Given the description of an element on the screen output the (x, y) to click on. 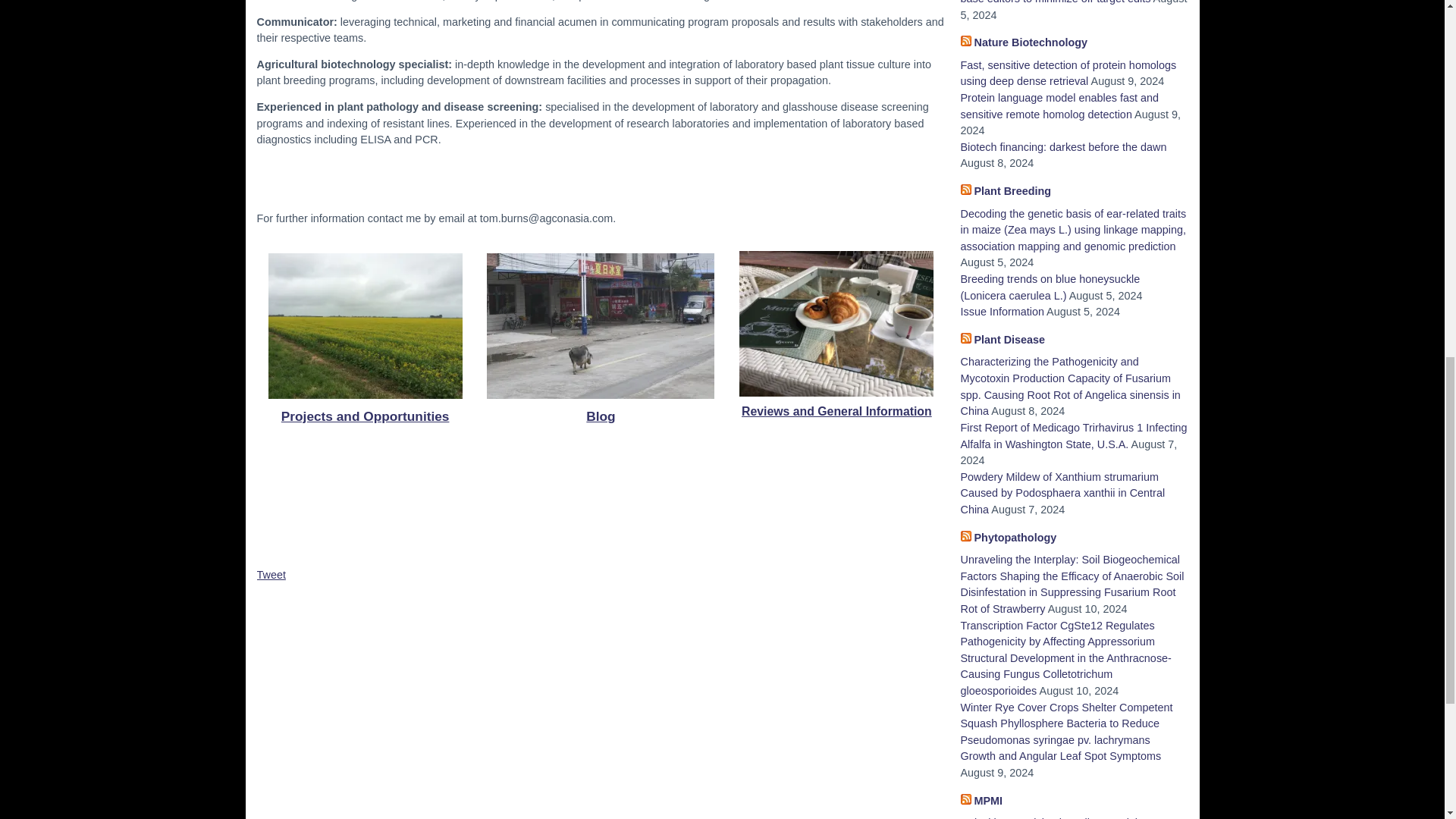
Reviews and General Information (836, 410)
Tweet (270, 574)
Blog (600, 416)
Projects and Opportunities (365, 416)
